Given the description of an element on the screen output the (x, y) to click on. 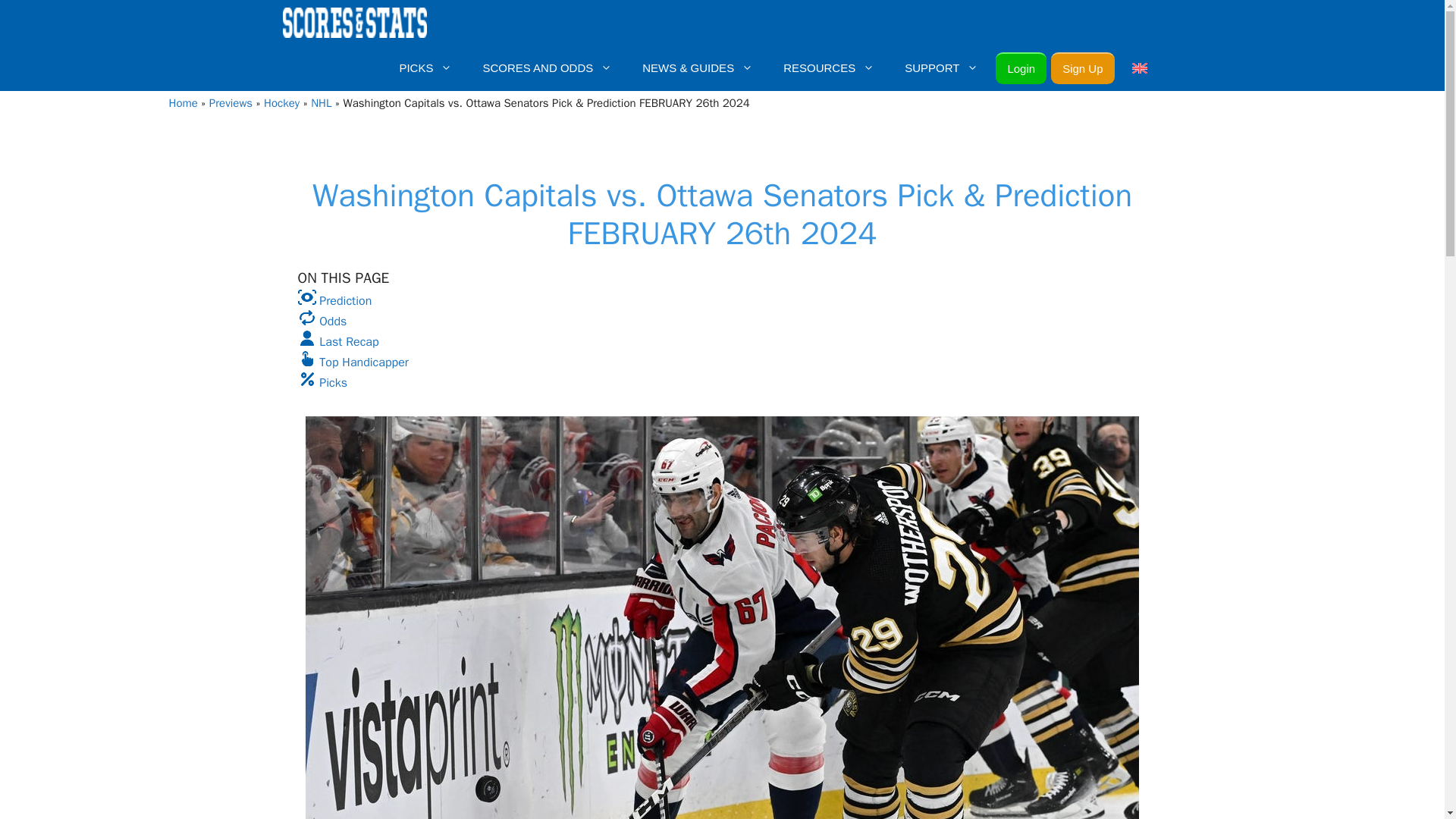
SUPPORT (940, 67)
ScoresAndStats.com (354, 22)
SCORES AND ODDS (547, 67)
PICKS (425, 67)
Previews (230, 102)
Login (1020, 68)
Home (182, 102)
RESOURCES (828, 67)
Hockey (281, 102)
Sign Up (1082, 68)
